Given the description of an element on the screen output the (x, y) to click on. 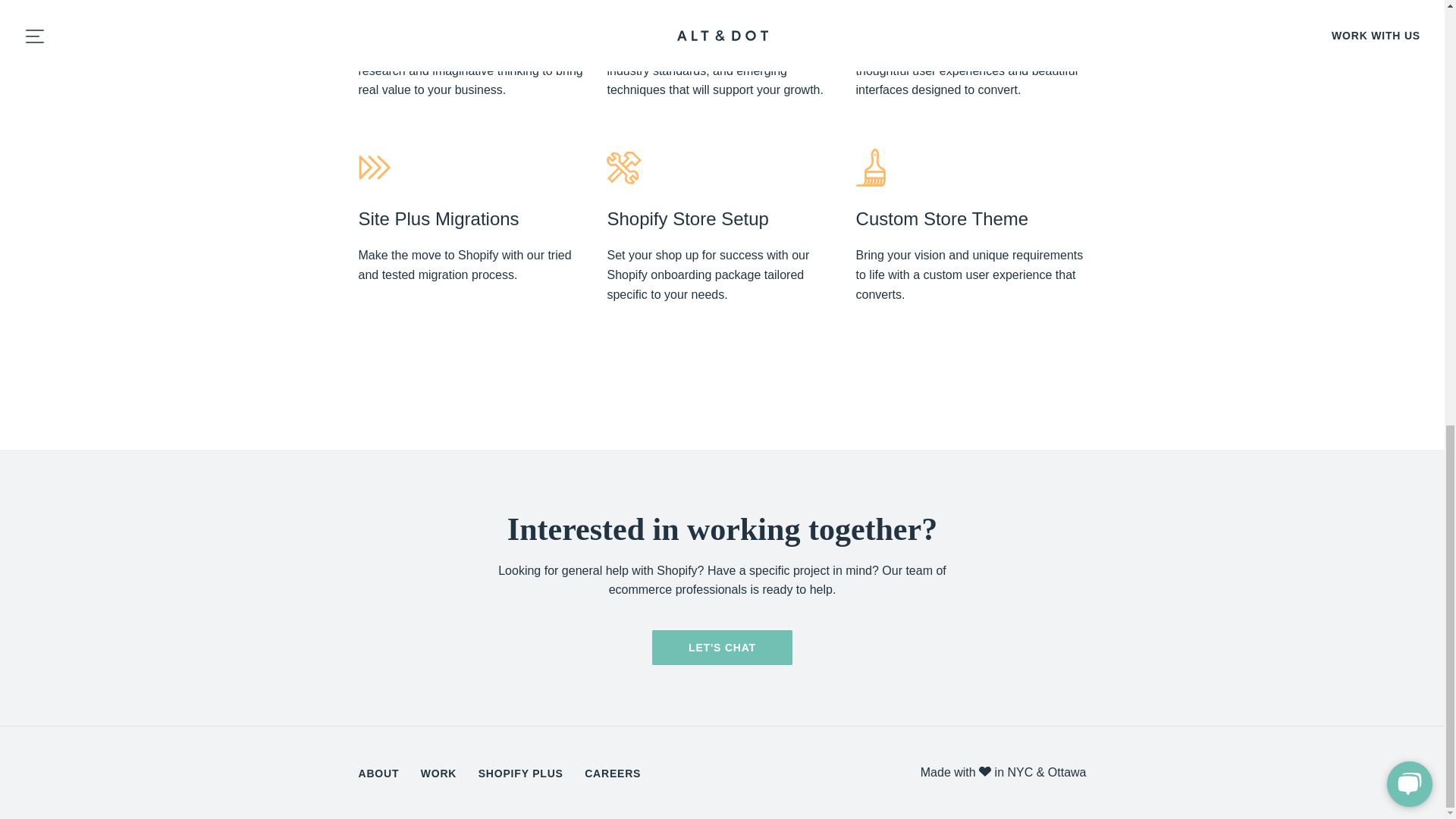
WORK (438, 773)
SHOPIFY PLUS (521, 773)
CAREERS (612, 773)
LET'S CHAT (722, 647)
ABOUT (378, 773)
